Given the description of an element on the screen output the (x, y) to click on. 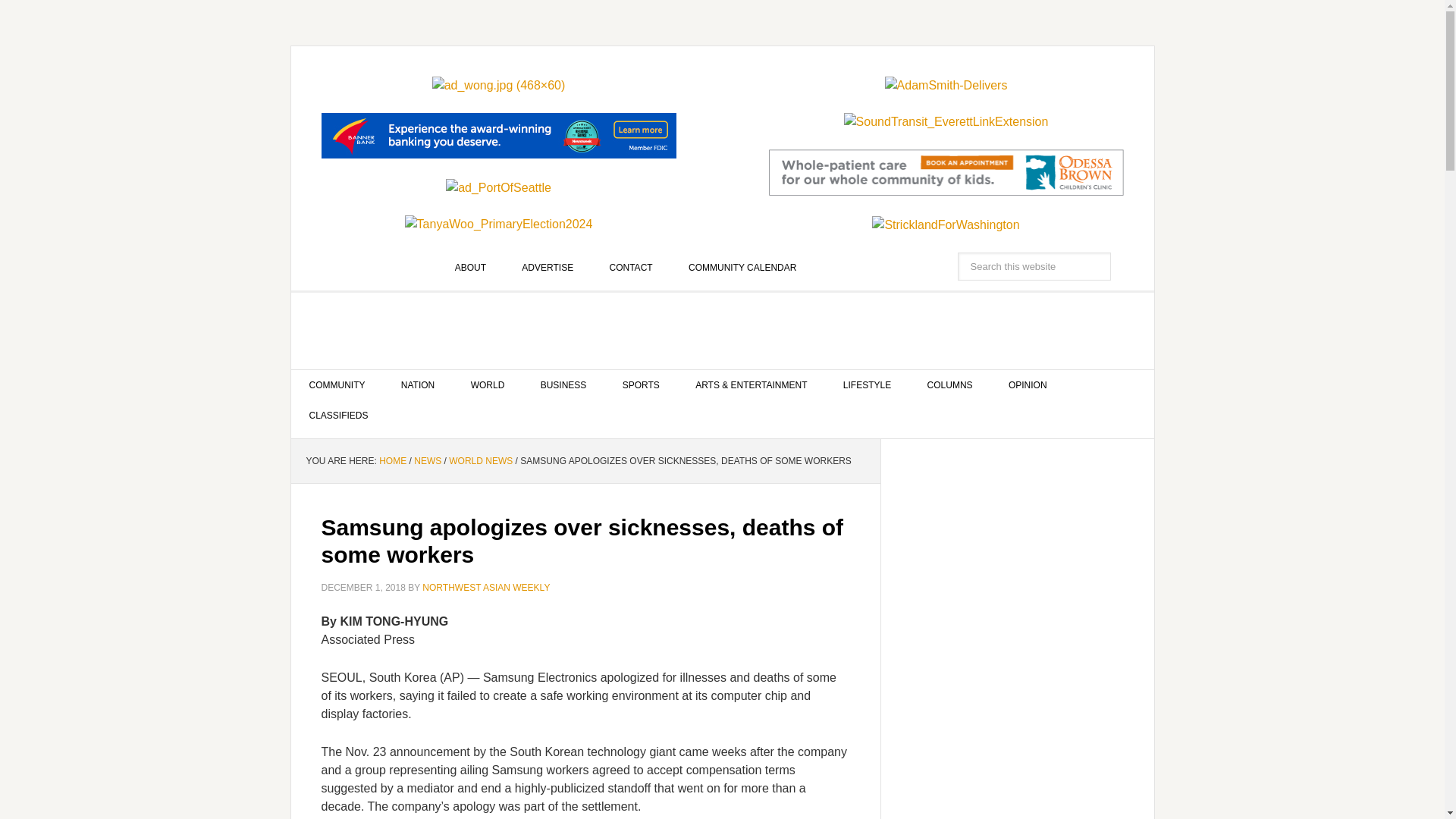
BUSINESS (563, 385)
WORLD (487, 385)
NATION (417, 385)
NORTHWEST ASIAN WEEKLY (722, 330)
COMMUNITY (337, 385)
COLUMNS (949, 385)
ABOUT (469, 267)
SPORTS (641, 385)
LIFESTYLE (866, 385)
OPINION (1027, 385)
ADVERTISE (547, 267)
COMMUNITY CALENDAR (741, 267)
